Given the description of an element on the screen output the (x, y) to click on. 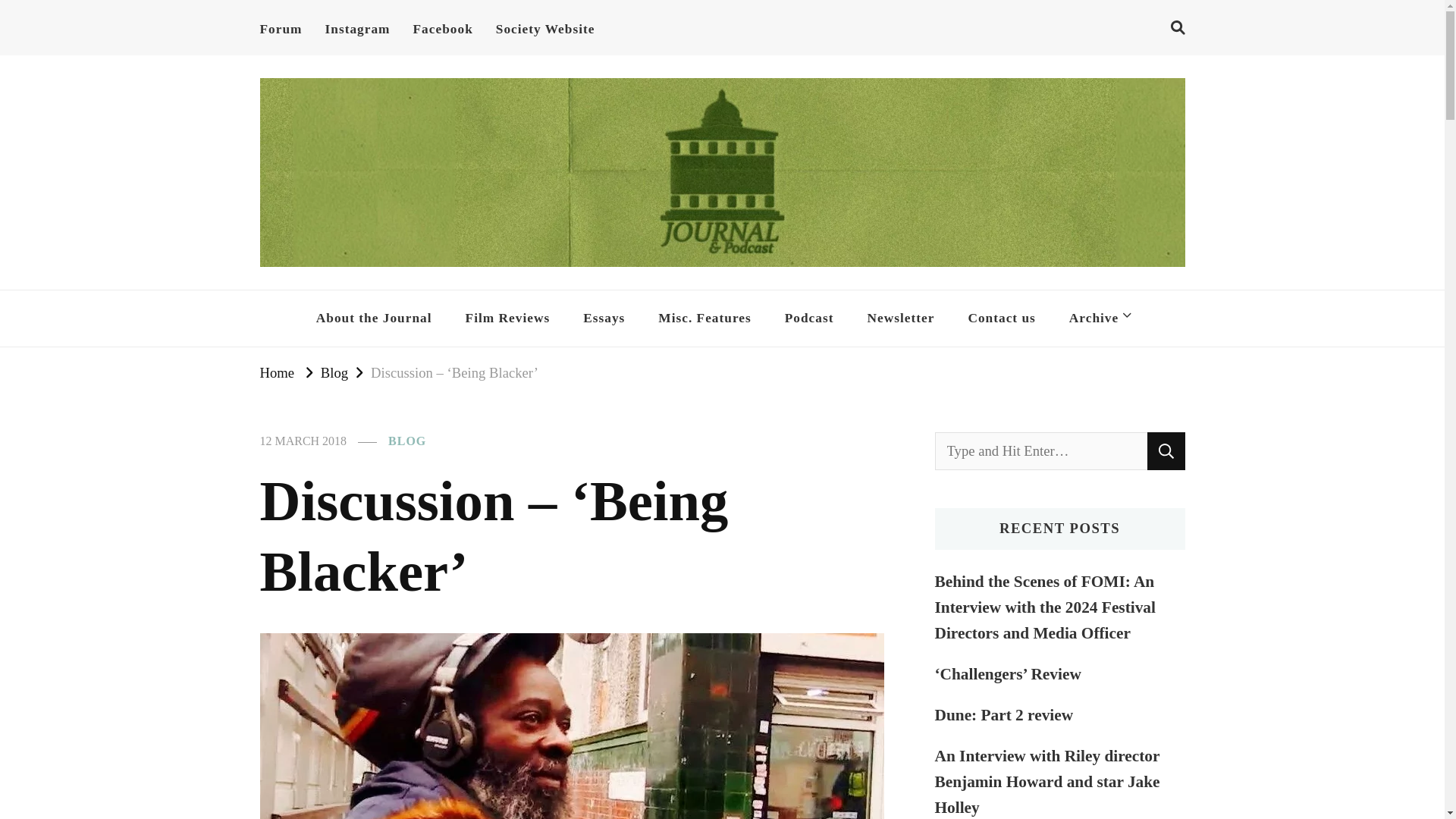
Misc. Features (704, 318)
Search (1166, 451)
Archive (1098, 318)
Film Reviews (507, 318)
Blog (333, 371)
Facebook (442, 29)
12 MARCH 2018 (302, 441)
Home (276, 371)
Forum (286, 29)
Search (1166, 451)
